Given the description of an element on the screen output the (x, y) to click on. 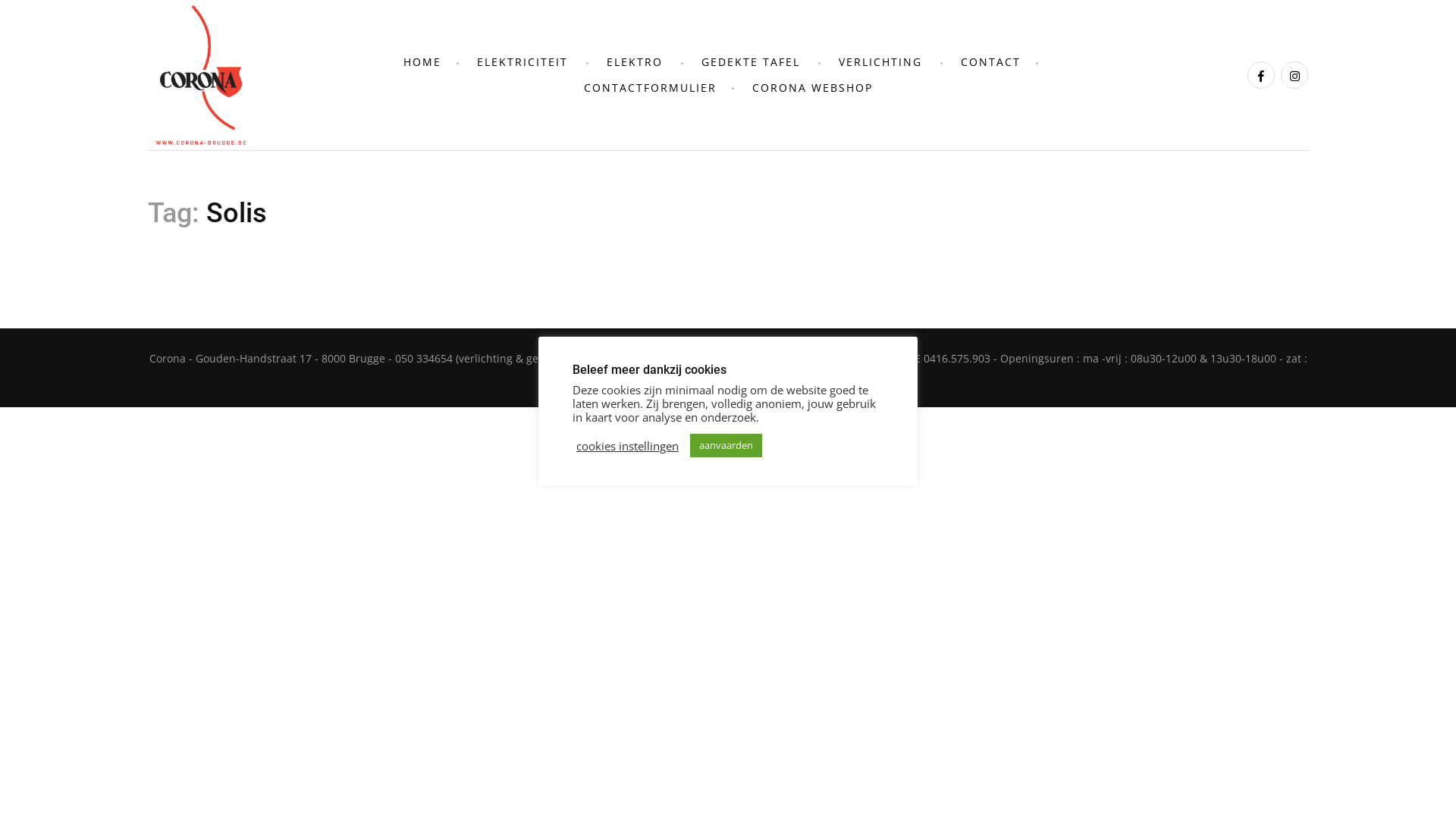
GEDEKTE TAFEL Element type: text (749, 62)
ELEKTRICITEIT Element type: text (521, 62)
HOME Element type: text (422, 62)
CONTACT Element type: text (989, 62)
aanvaarden Element type: text (726, 445)
CORONA WEBSHOP Element type: text (812, 87)
VERLICHTING Element type: text (880, 62)
cookies instellingen Element type: text (627, 444)
CONTACTFORMULIER Element type: text (649, 87)
ELEKTRO Element type: text (634, 62)
